Given the description of an element on the screen output the (x, y) to click on. 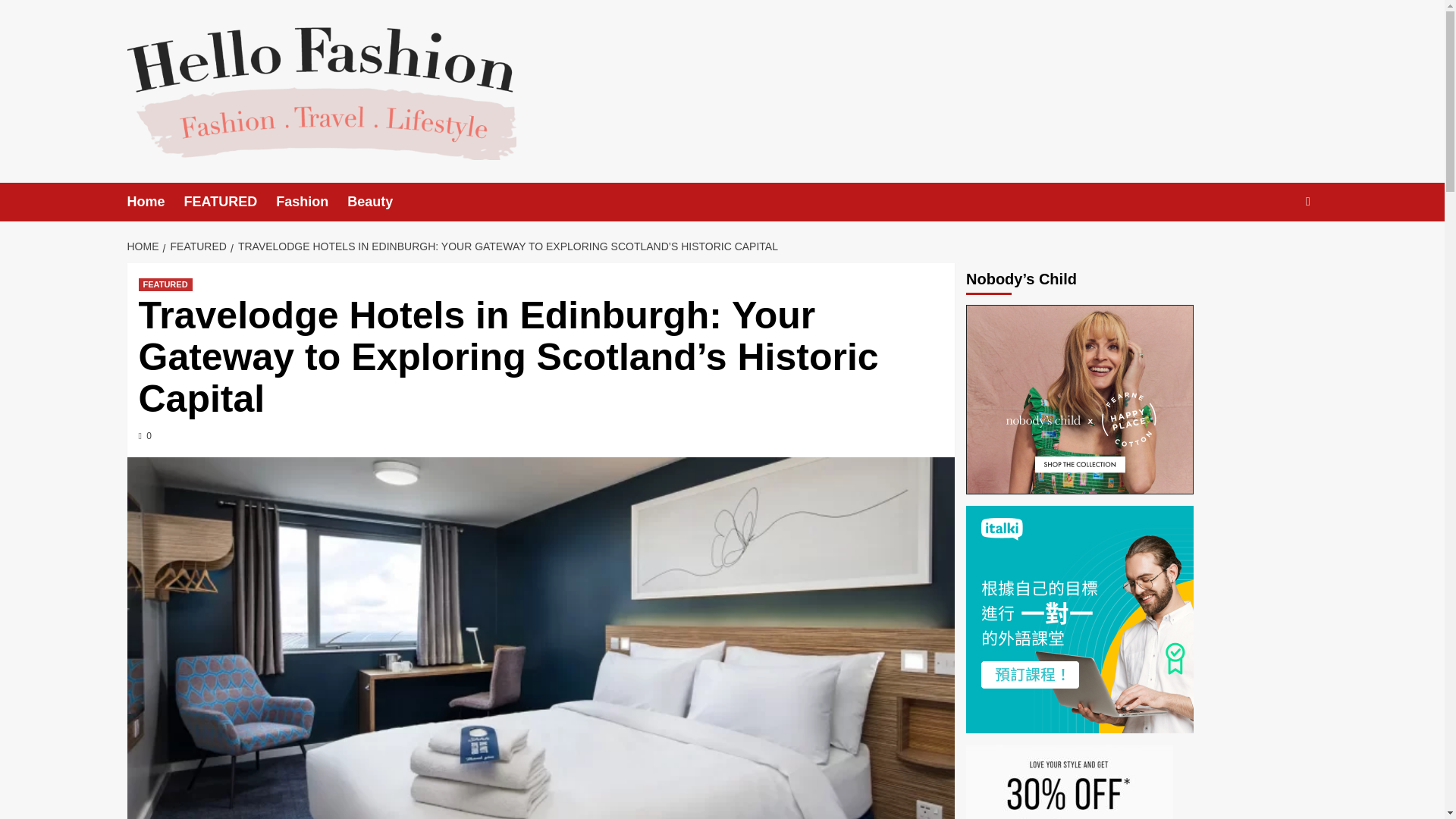
HOME (145, 246)
Home (156, 201)
FEATURED (195, 246)
0 (144, 435)
Fashion (311, 201)
Beauty (379, 201)
FEATURED (165, 284)
FEATURED (230, 201)
Search (1272, 247)
